Given the description of an element on the screen output the (x, y) to click on. 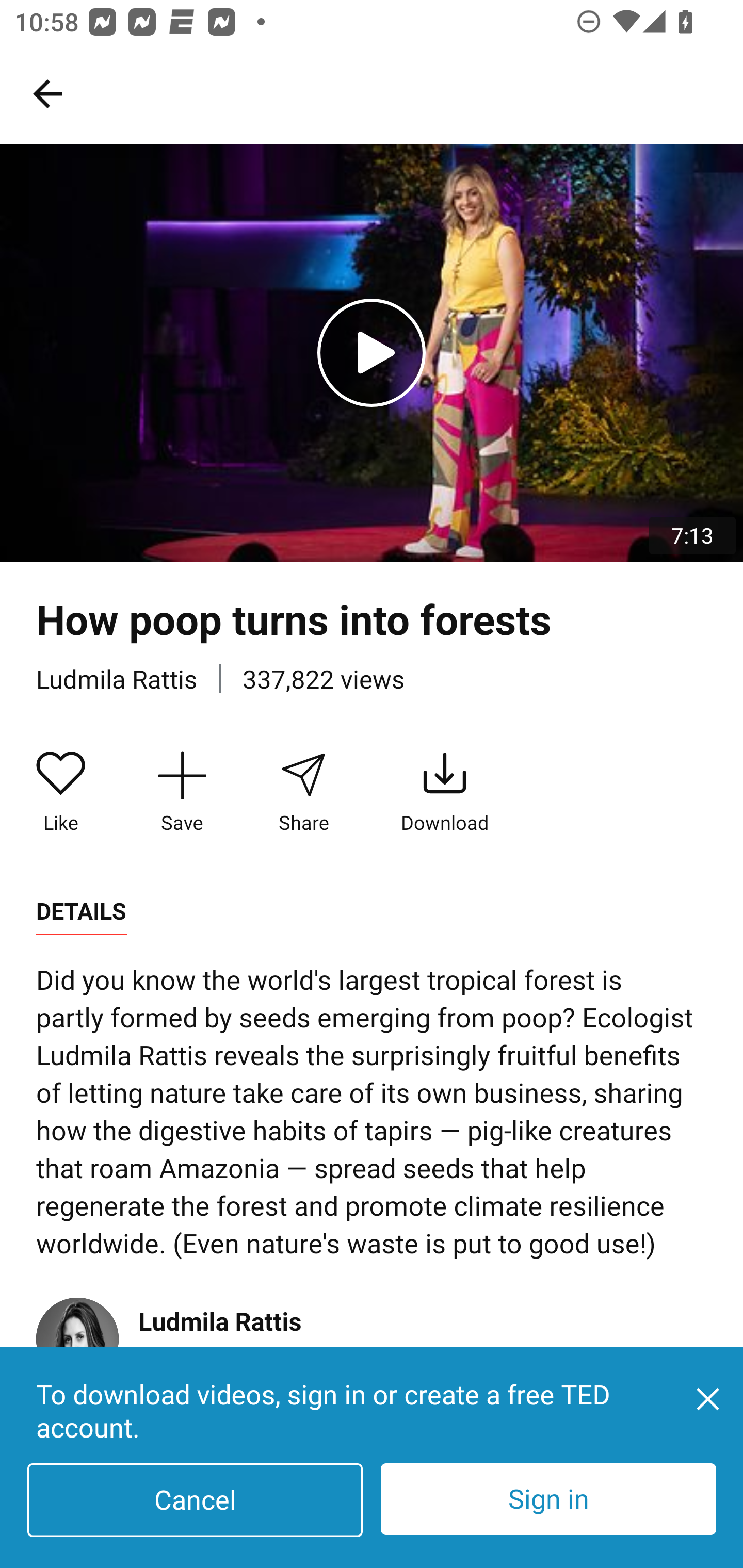
Home, back (47, 92)
Like (60, 793)
Save (181, 793)
Share (302, 793)
Download (444, 793)
DETAILS (80, 911)
Cancel (194, 1499)
Sign in (548, 1498)
